Given the description of an element on the screen output the (x, y) to click on. 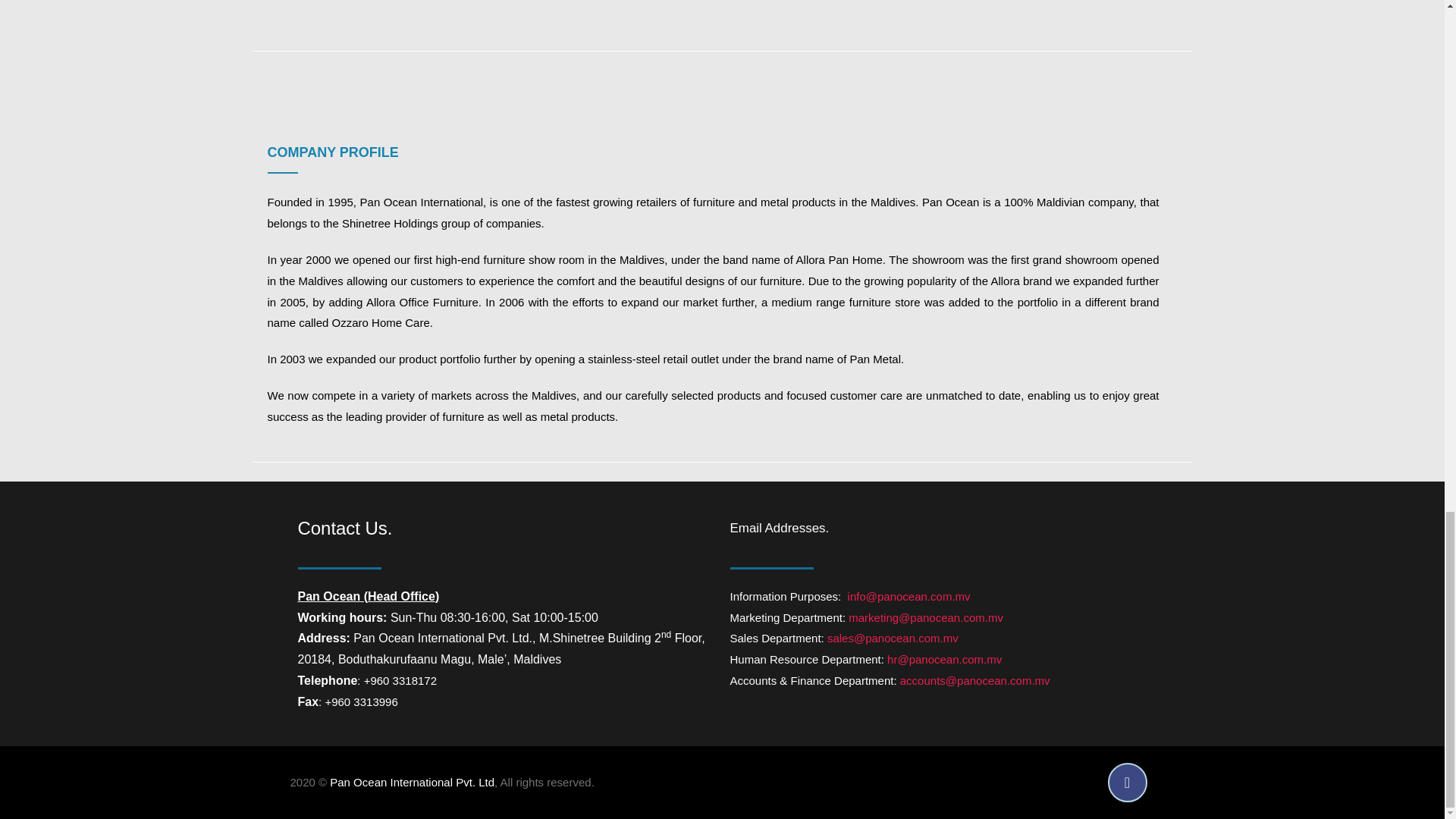
Pan Ocean International Pvt. Ltd (412, 781)
